Given the description of an element on the screen output the (x, y) to click on. 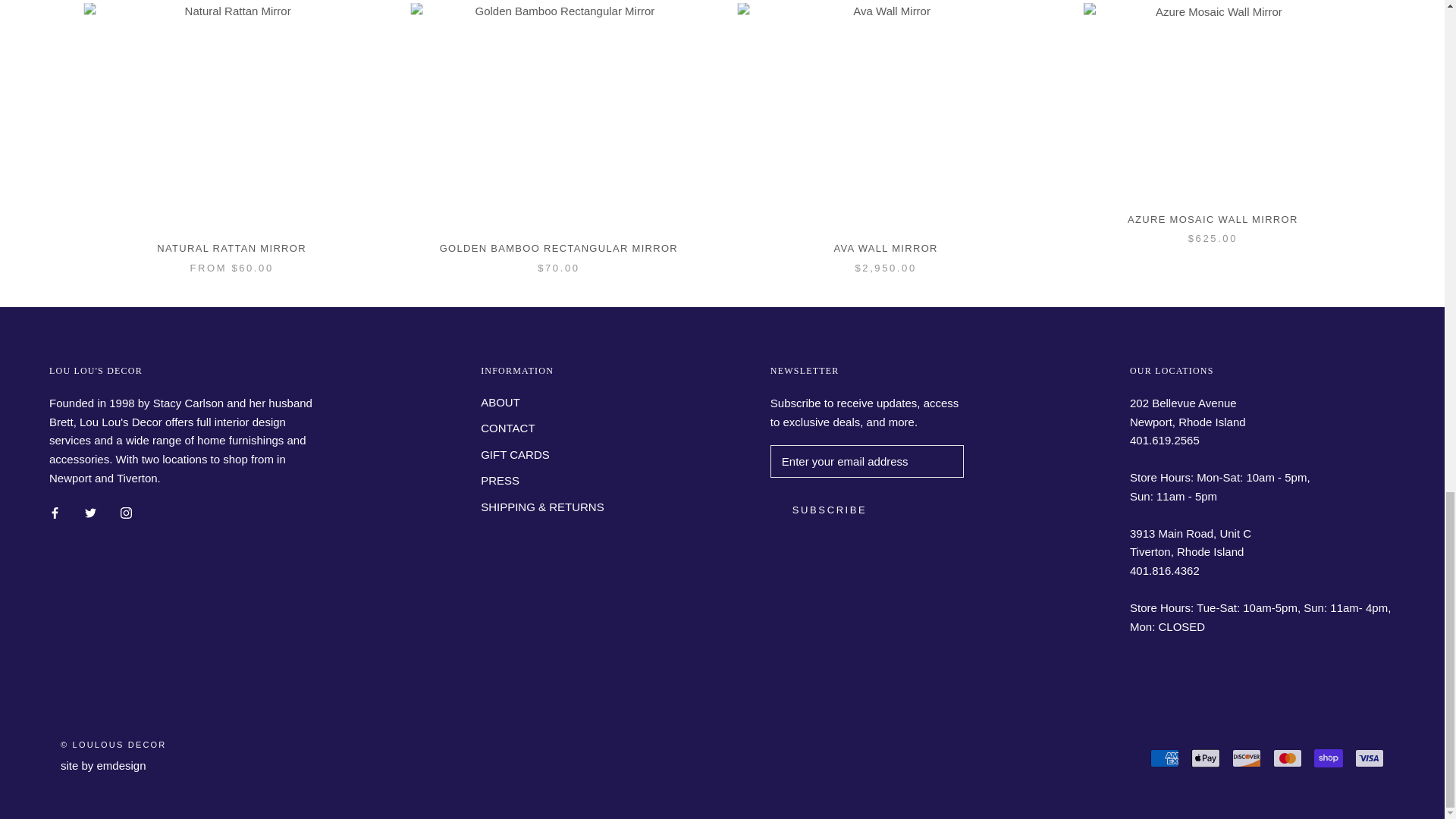
Visa (1369, 758)
Mastercard (1286, 758)
Shop Pay (1328, 758)
American Express (1164, 758)
Discover (1245, 758)
Apple Pay (1205, 758)
